Given the description of an element on the screen output the (x, y) to click on. 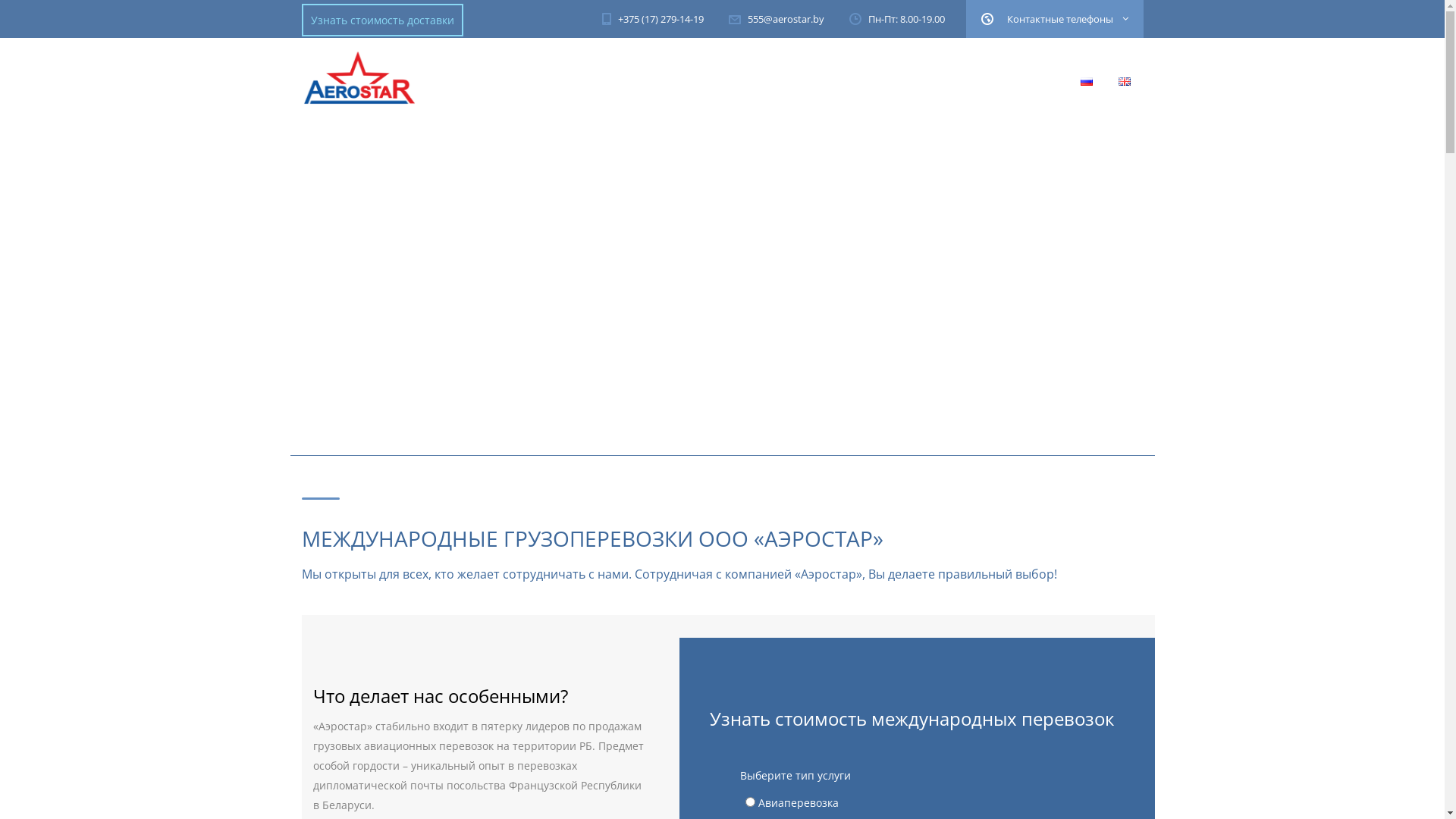
555@aerostar.by Element type: text (775, 18)
English Element type: hover (1123, 81)
+375 (17) 279-14-19 Element type: text (659, 18)
